Given the description of an element on the screen output the (x, y) to click on. 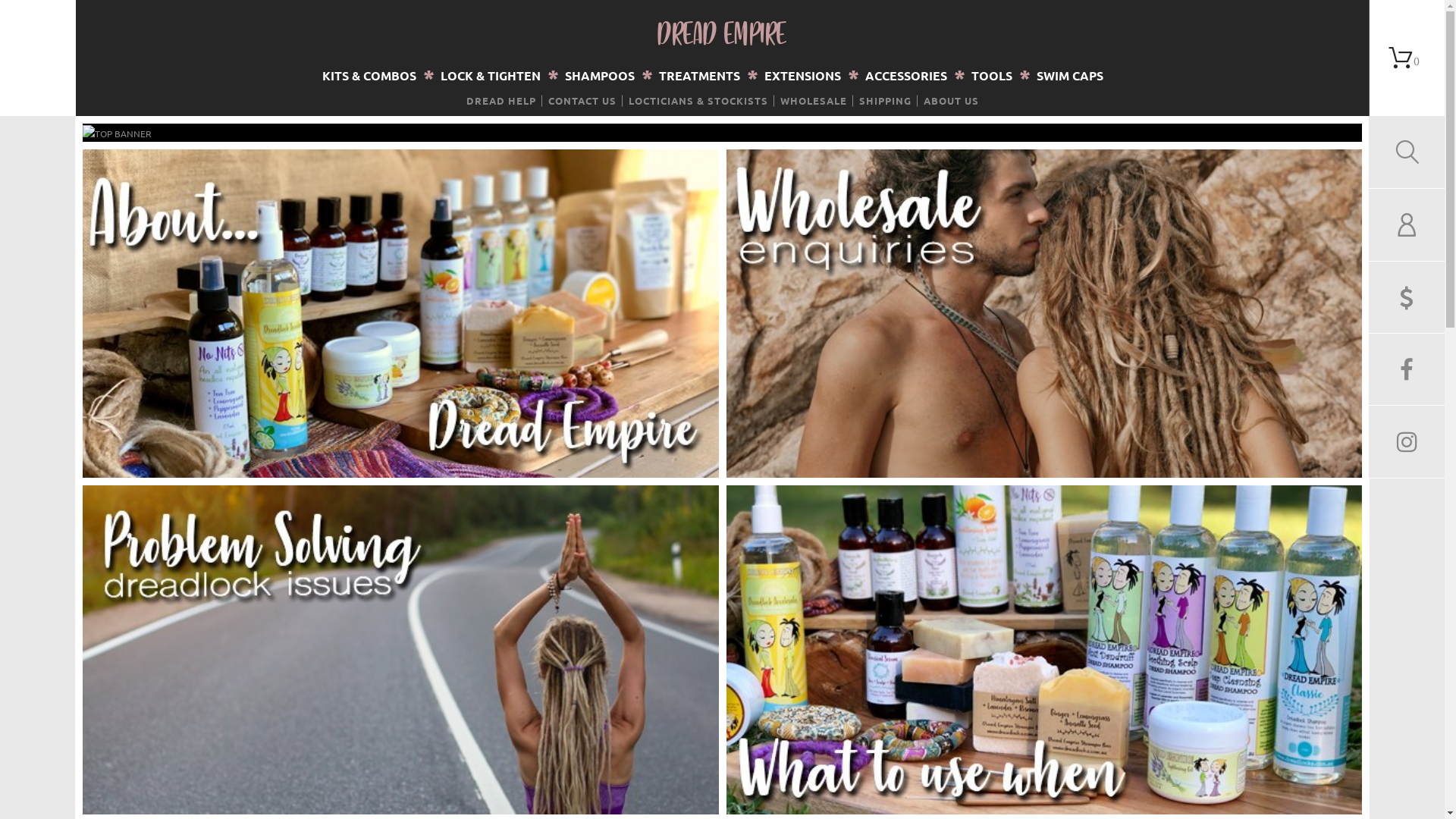
TREATMENTS Element type: text (699, 75)
Top Banner Element type: hover (116, 133)
About Us Element type: hover (400, 312)
Wholesale Element type: hover (1044, 313)
The Dread Shop Element type: hover (37, 58)
About Us Element type: hover (400, 313)
LOCTICIANS & STOCKISTS Element type: text (697, 100)
Problem Solving Element type: hover (400, 649)
SWIM CAPS Element type: text (1069, 75)
DREAD HELP Element type: text (500, 100)
What to do Element type: hover (1044, 648)
SHIPPING Element type: text (884, 100)
TOOLS Element type: text (991, 75)
Top Banner Element type: hover (116, 131)
ABOUT US Element type: text (951, 100)
EXTENSIONS Element type: text (802, 75)
Wholesale Element type: hover (1044, 312)
DREAD EMPIRE Element type: text (722, 33)
What to do Element type: hover (1044, 649)
KITS & COMBOS Element type: text (369, 75)
SHAMPOOS Element type: text (599, 75)
CONTACT US Element type: text (581, 100)
Problem Solving Element type: hover (400, 648)
WHOLESALE Element type: text (812, 100)
0 Element type: text (1406, 58)
ACCESSORIES Element type: text (906, 75)
LOCK & TIGHTEN Element type: text (490, 75)
